Given the description of an element on the screen output the (x, y) to click on. 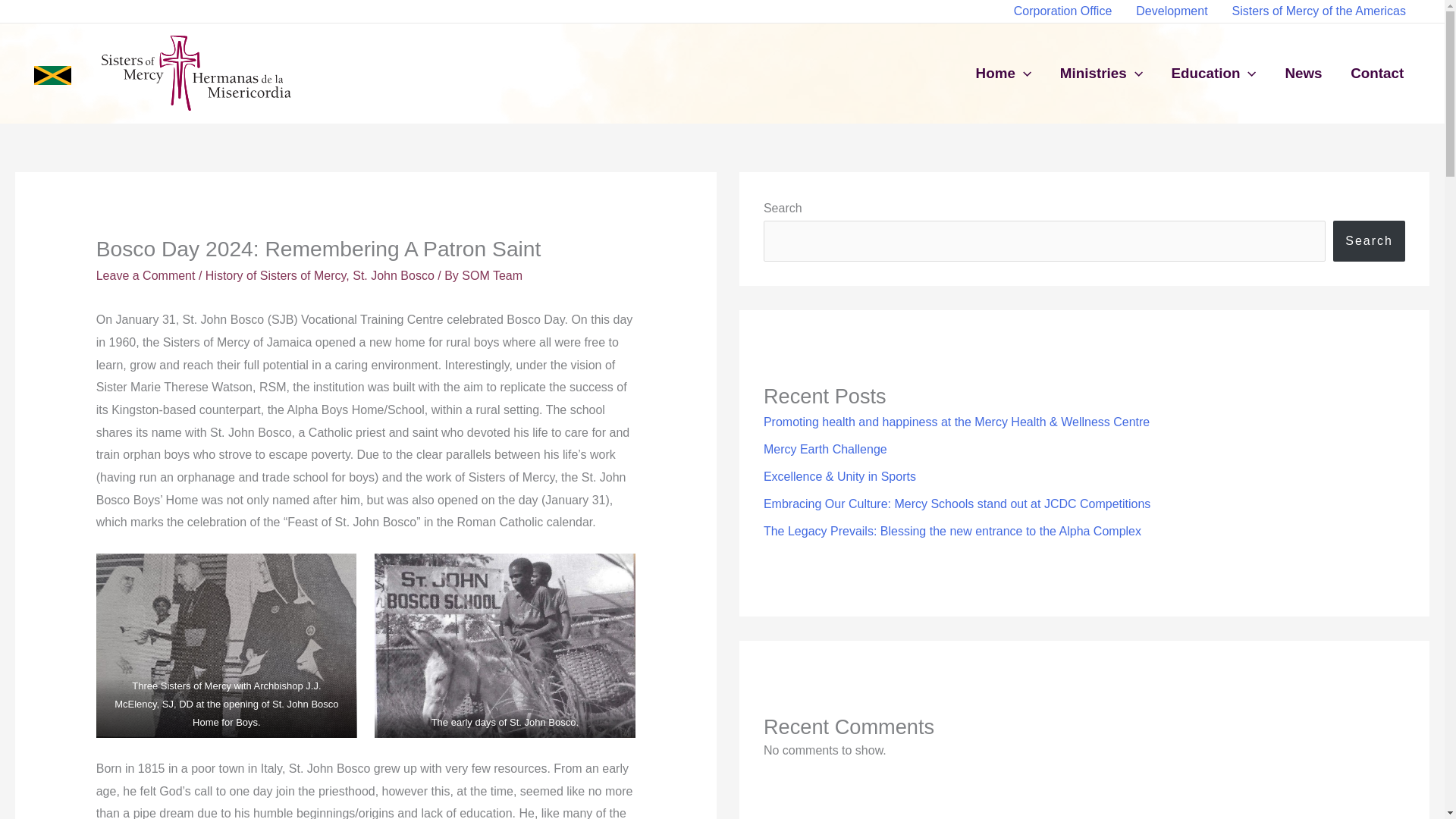
Corporation Office (1062, 11)
Sisters of Mercy of the Americas (1319, 11)
Contact (1377, 73)
Development (1172, 11)
Education (1214, 73)
Ministries (1101, 73)
Home (1002, 73)
View all posts by SOM Team (491, 275)
News (1303, 73)
